Given the description of an element on the screen output the (x, y) to click on. 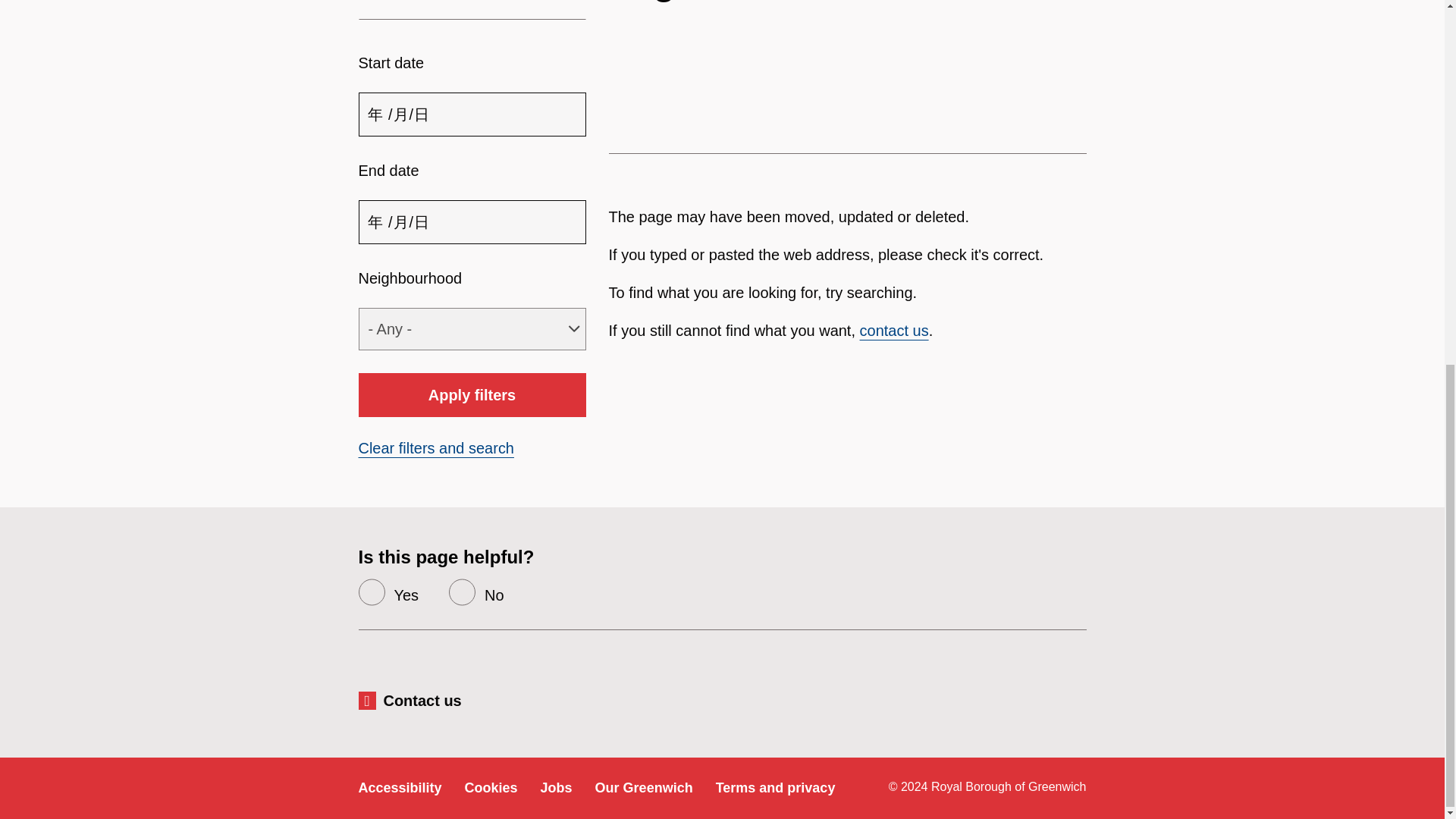
Apply filters (471, 394)
Contact us (417, 700)
yes (371, 591)
Filter (471, 9)
Royal Greenwich Facebook page. (969, 699)
contact us (894, 330)
Royal Greenwich Instagram page. (1071, 699)
Apply filters (471, 394)
no (462, 591)
Royal Greenwich X page. (1020, 699)
